Given the description of an element on the screen output the (x, y) to click on. 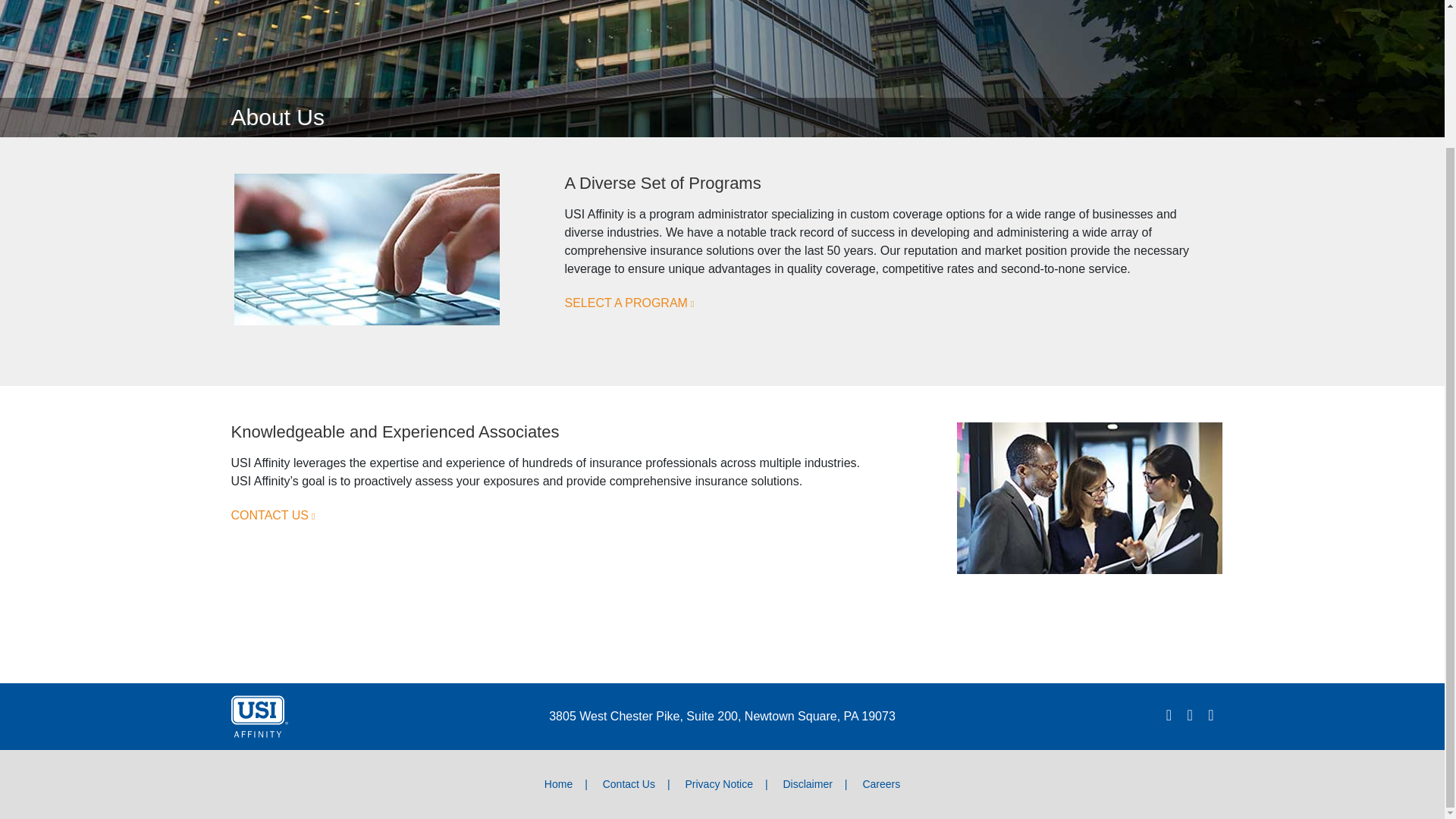
CONTACT US (272, 515)
Careers (881, 784)
Disclaimer (807, 784)
Select a Program (629, 303)
Home (558, 784)
SELECT A PROGRAM (629, 303)
Contact Us (272, 515)
Privacy Notice (718, 784)
USI Affinity (258, 715)
Contact Us (628, 784)
